Given the description of an element on the screen output the (x, y) to click on. 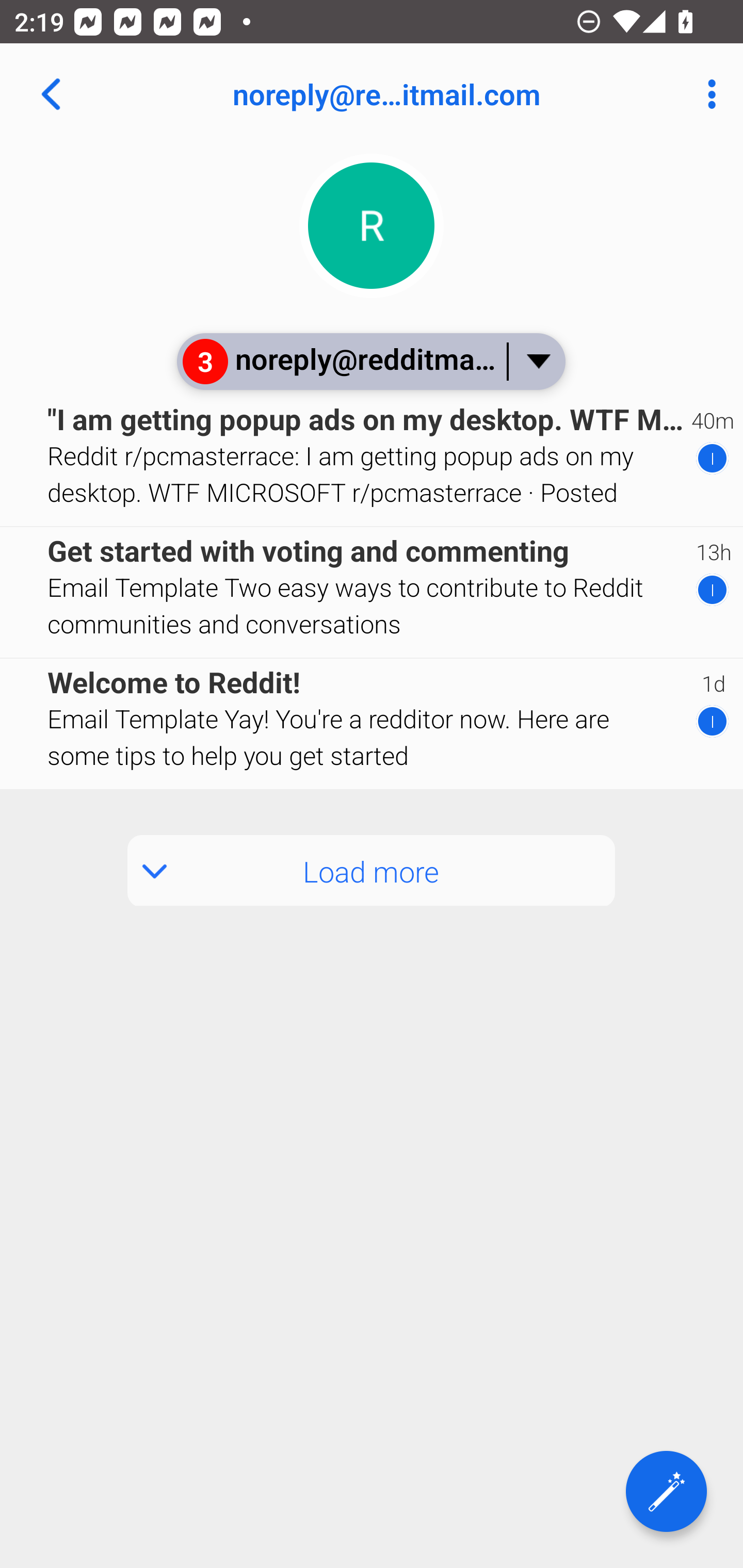
Navigate up (50, 93)
noreply@redditmail.com (436, 93)
More Options (706, 93)
3 noreply@redditmail.com & You (370, 361)
Load more (371, 870)
